Given the description of an element on the screen output the (x, y) to click on. 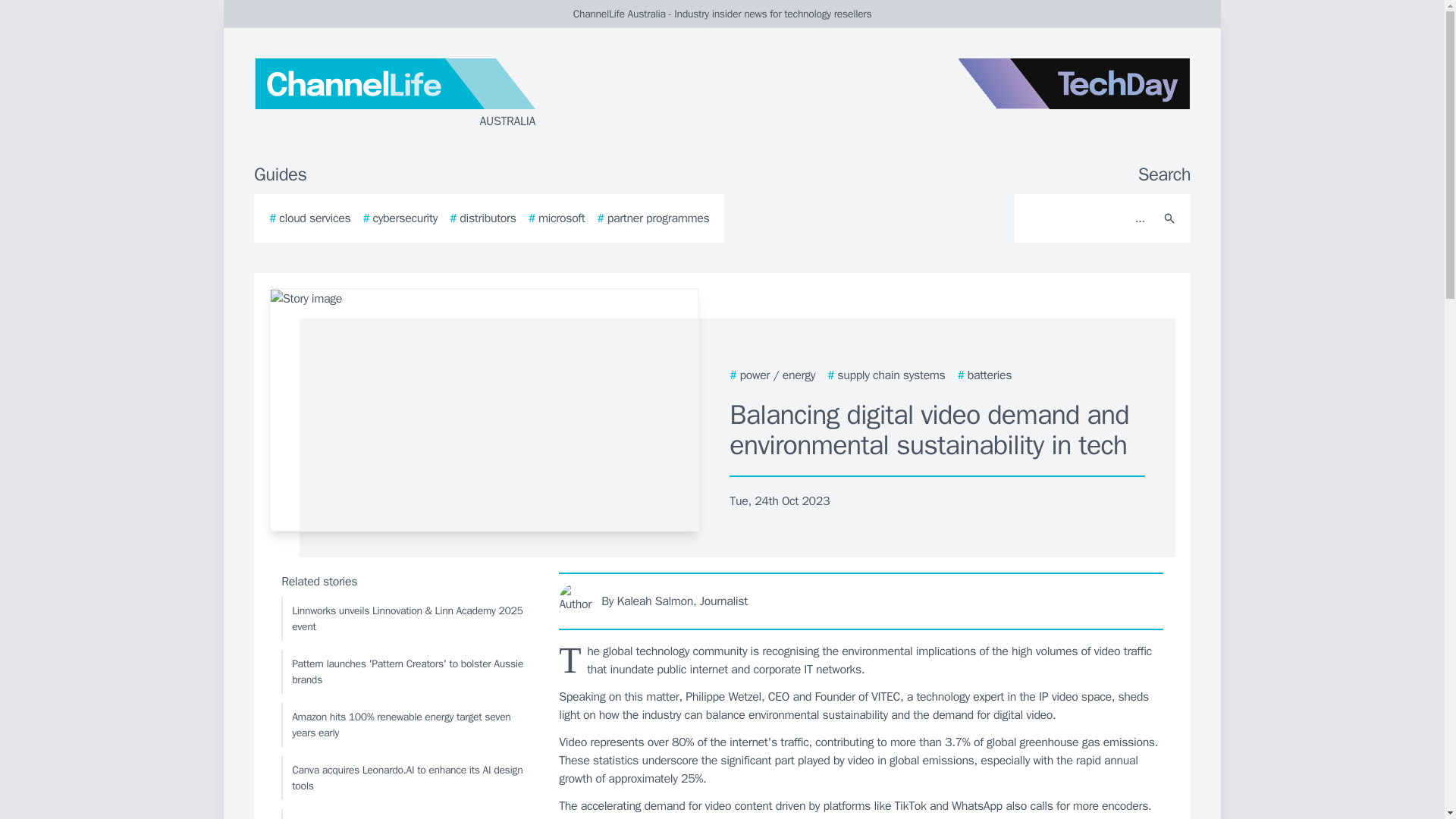
Pattern launches 'Pattern Creators' to bolster Aussie brands (406, 671)
Canva acquires Leonardo.AI to enhance its AI design tools (406, 777)
By Kaleah Salmon, Journalist (861, 601)
AUSTRALIA (435, 94)
